Given the description of an element on the screen output the (x, y) to click on. 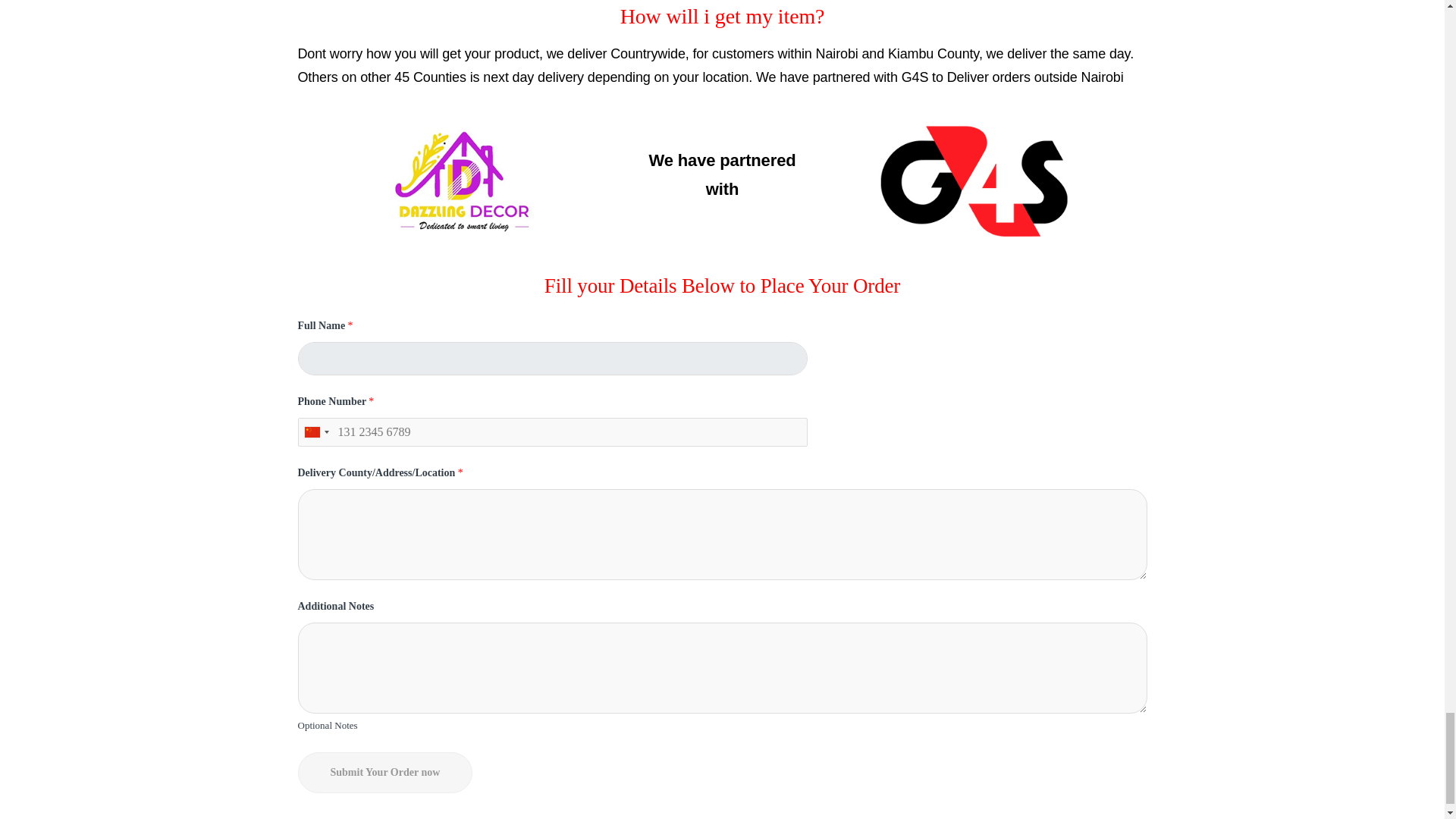
Submit Your Order now (384, 772)
